Given the description of an element on the screen output the (x, y) to click on. 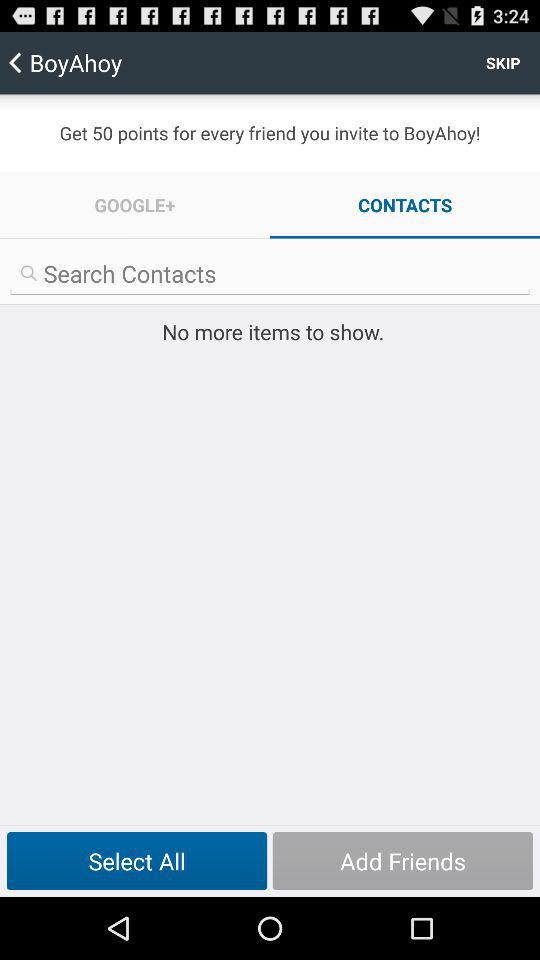
go to search (269, 274)
